Given the description of an element on the screen output the (x, y) to click on. 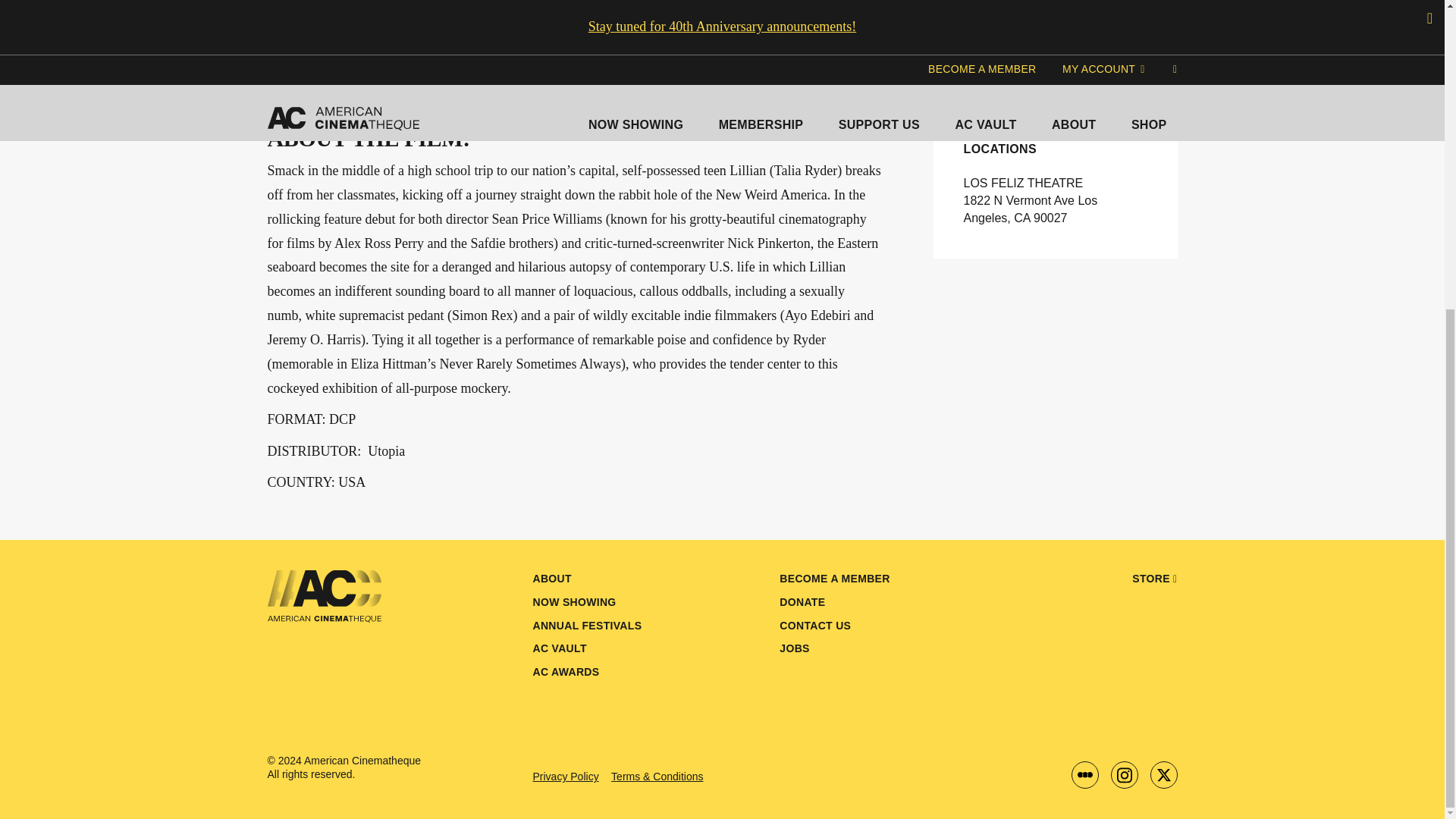
American Cinematheque (399, 595)
